Given the description of an element on the screen output the (x, y) to click on. 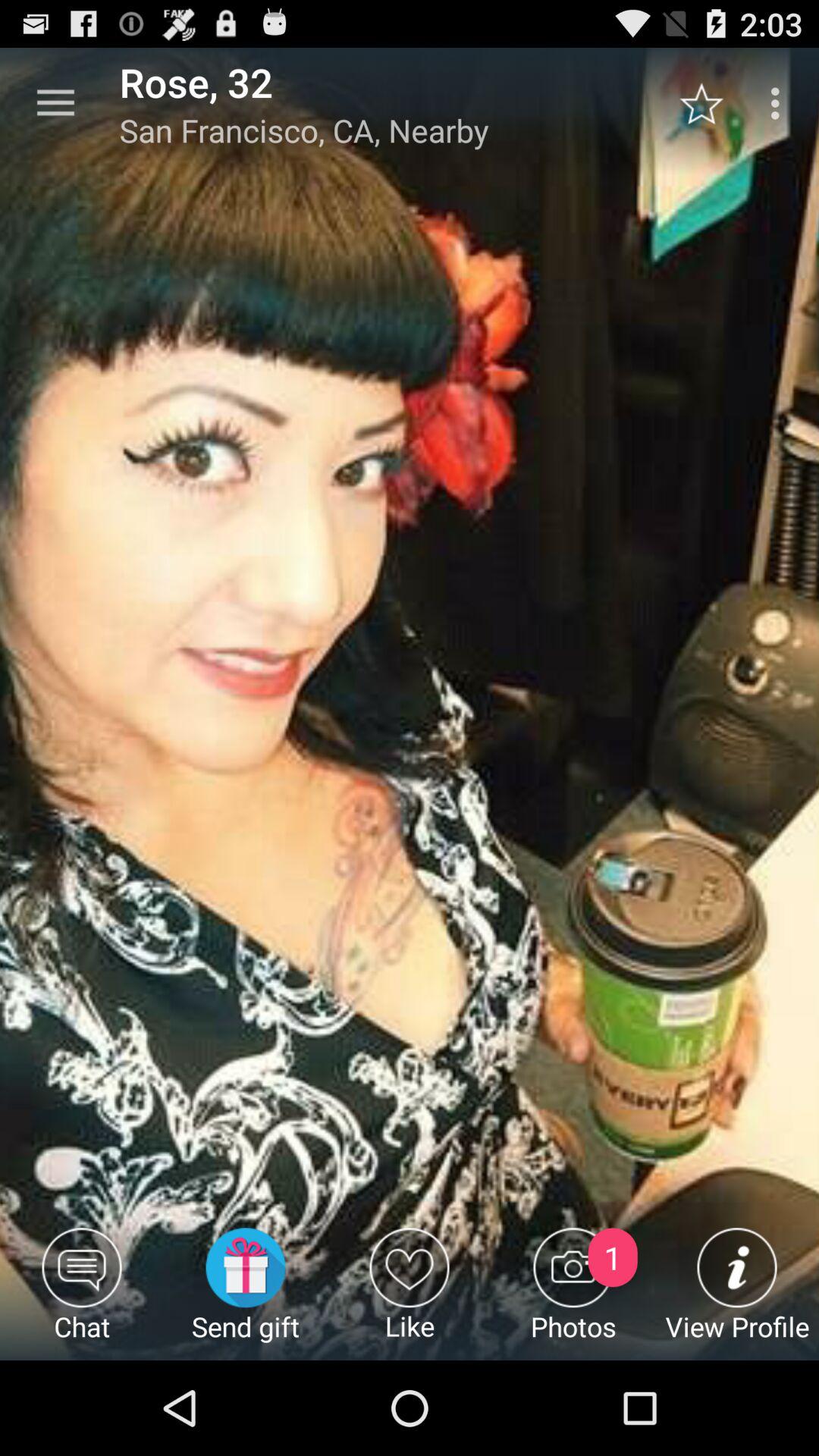
choose the icon to the left of rose, 32 item (55, 103)
